Given the description of an element on the screen output the (x, y) to click on. 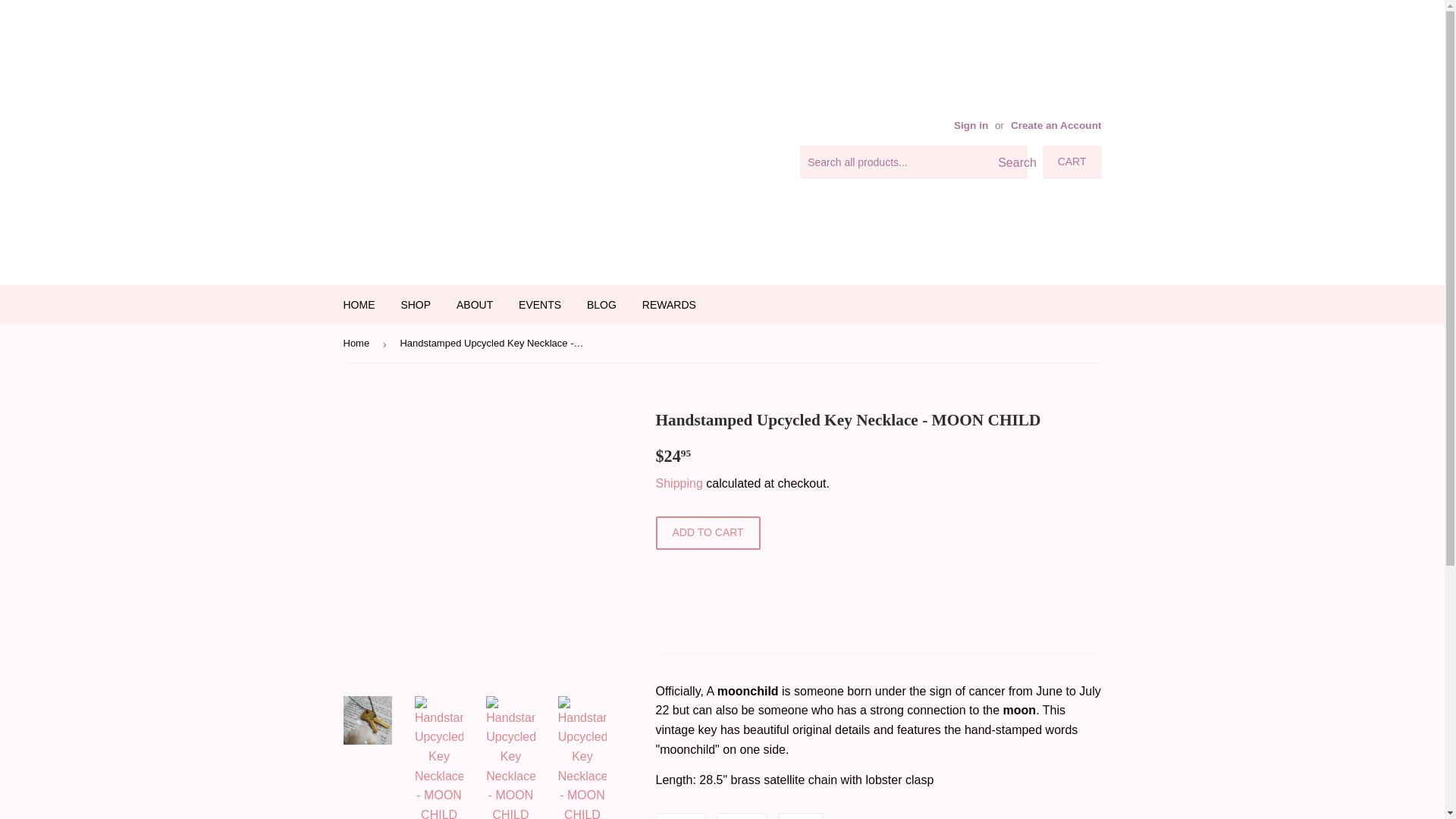
Share on Facebook (679, 816)
SHOP (415, 304)
CART (1072, 162)
HOME (359, 304)
Search (1009, 163)
Tweet on Twitter (741, 816)
Pin on Pinterest (800, 816)
Create an Account (1056, 125)
Sign in (970, 125)
